Given the description of an element on the screen output the (x, y) to click on. 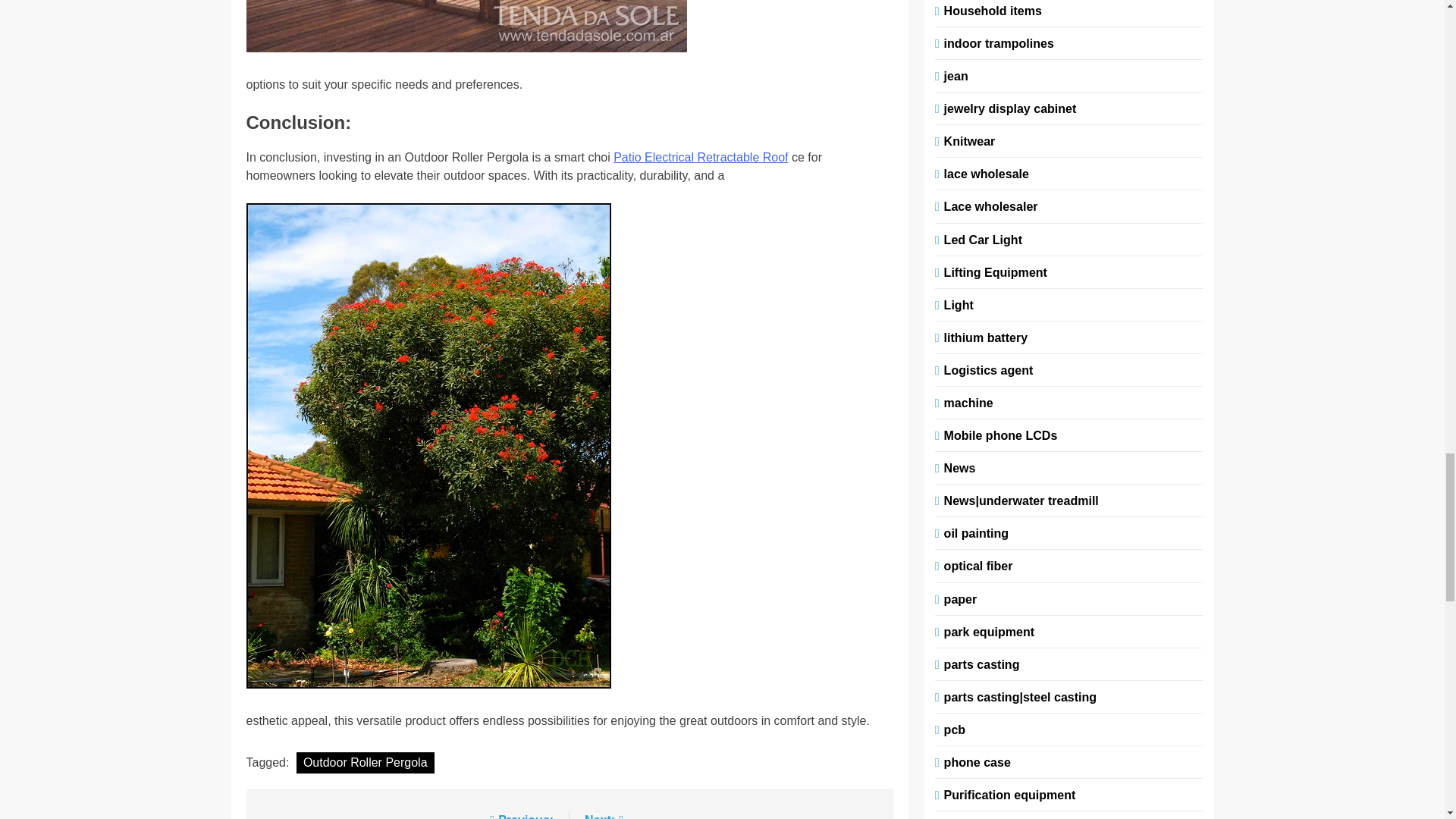
Patio Electrical Retractable Roof (699, 156)
Outdoor Roller Pergola (365, 762)
